Given the description of an element on the screen output the (x, y) to click on. 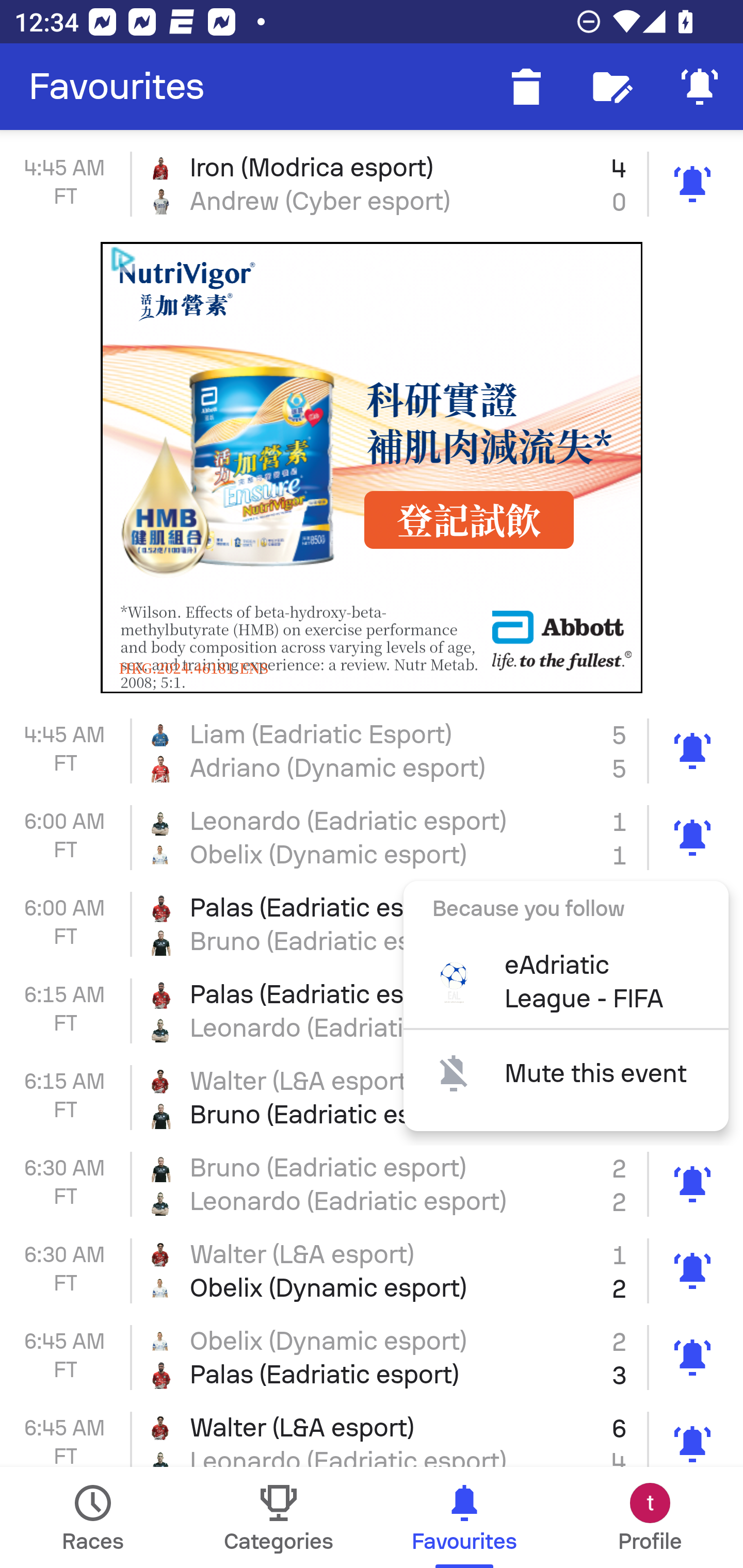
eAdriatic League - FIFA (565, 982)
Mute this event (565, 1073)
